Given the description of an element on the screen output the (x, y) to click on. 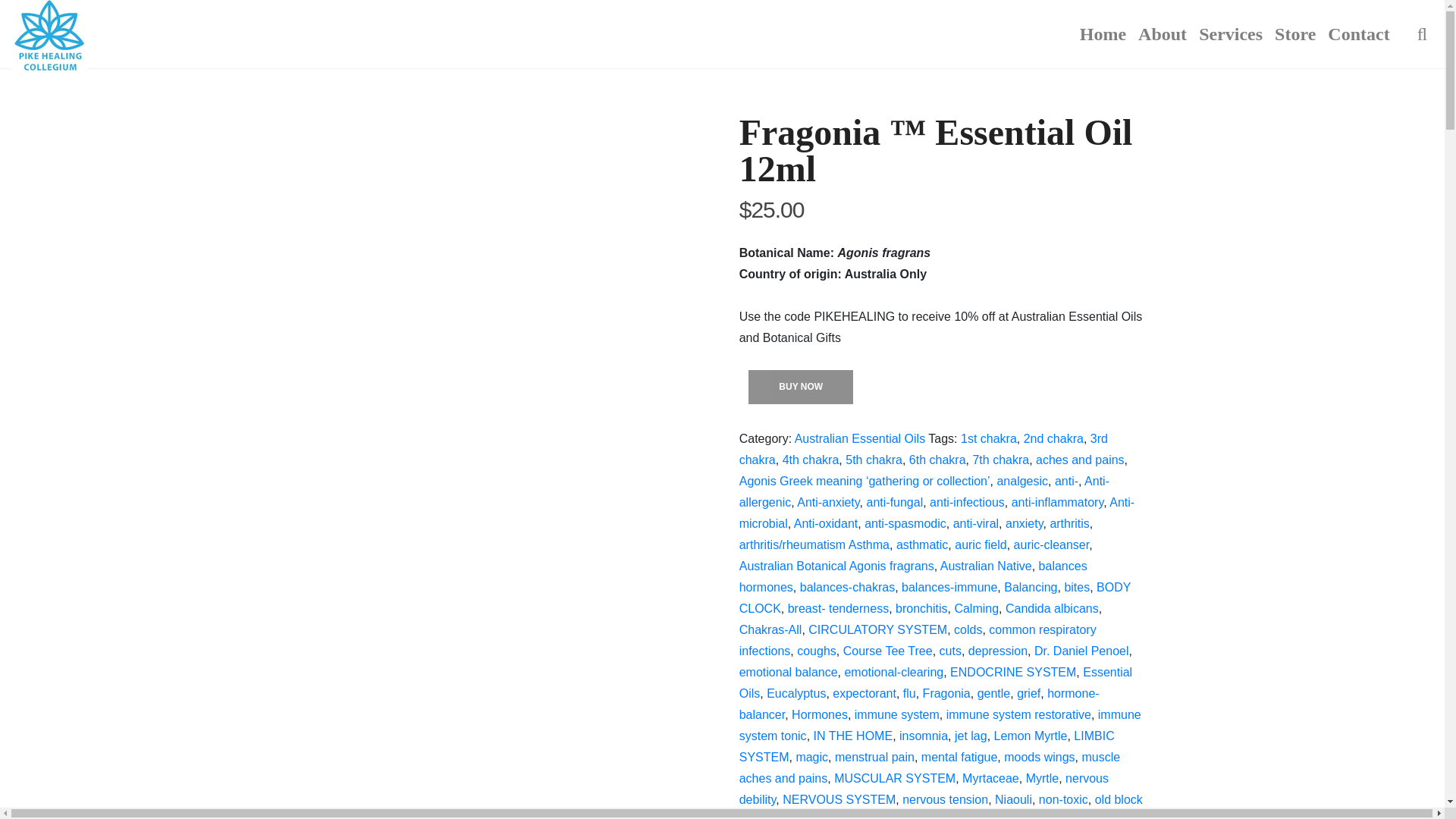
Anti-allergenic (924, 491)
anti-spasmodic (905, 522)
anxiety (1024, 522)
Anti-anxiety (827, 502)
Australian Essential Oils (860, 438)
Services (1230, 33)
About (1162, 33)
auric field (980, 544)
BUY NOW (800, 387)
4th chakra (811, 459)
